Given the description of an element on the screen output the (x, y) to click on. 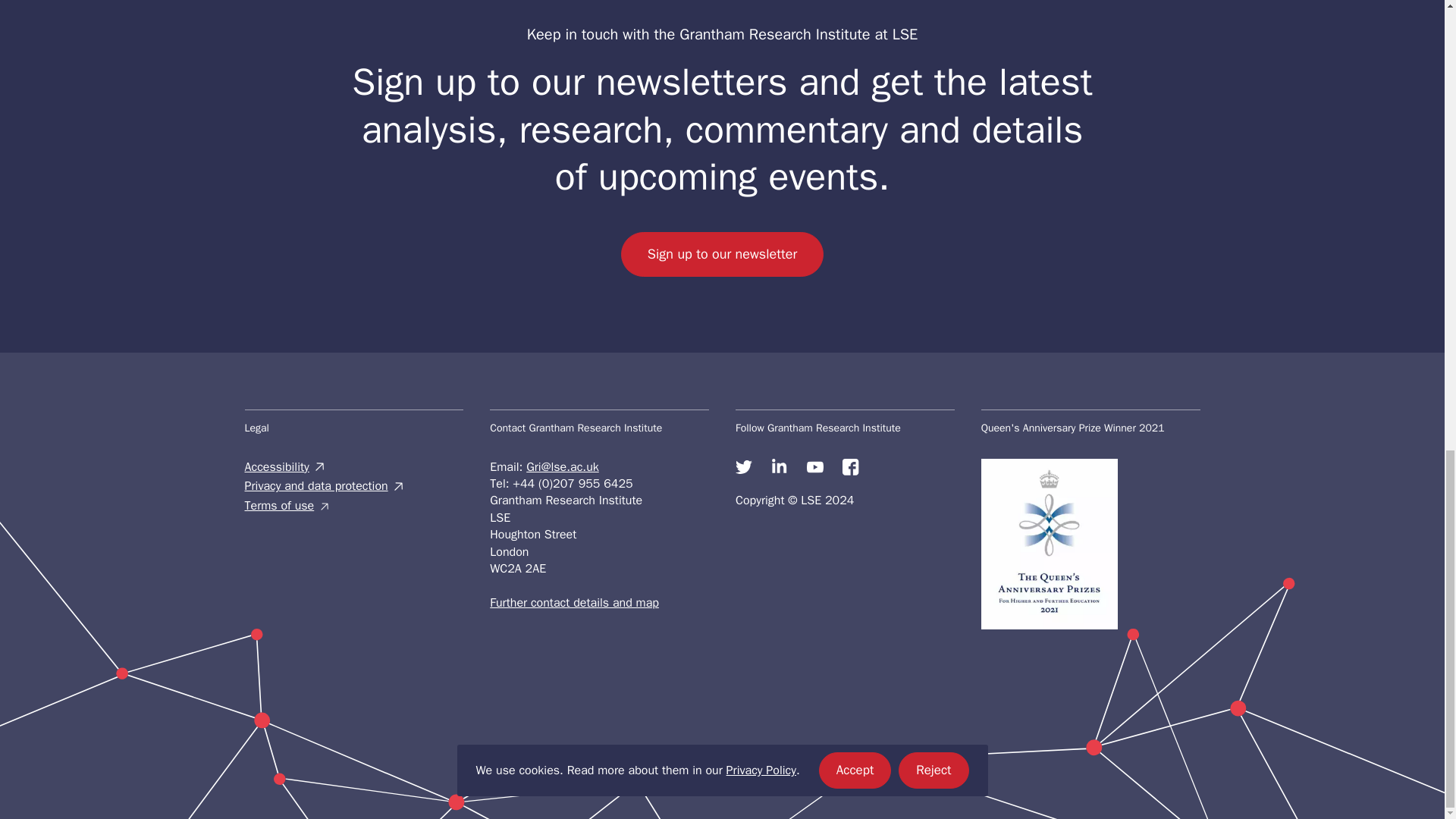
Accessibility (353, 466)
Privacy and data protection (353, 485)
Terms of use (353, 505)
